Given the description of an element on the screen output the (x, y) to click on. 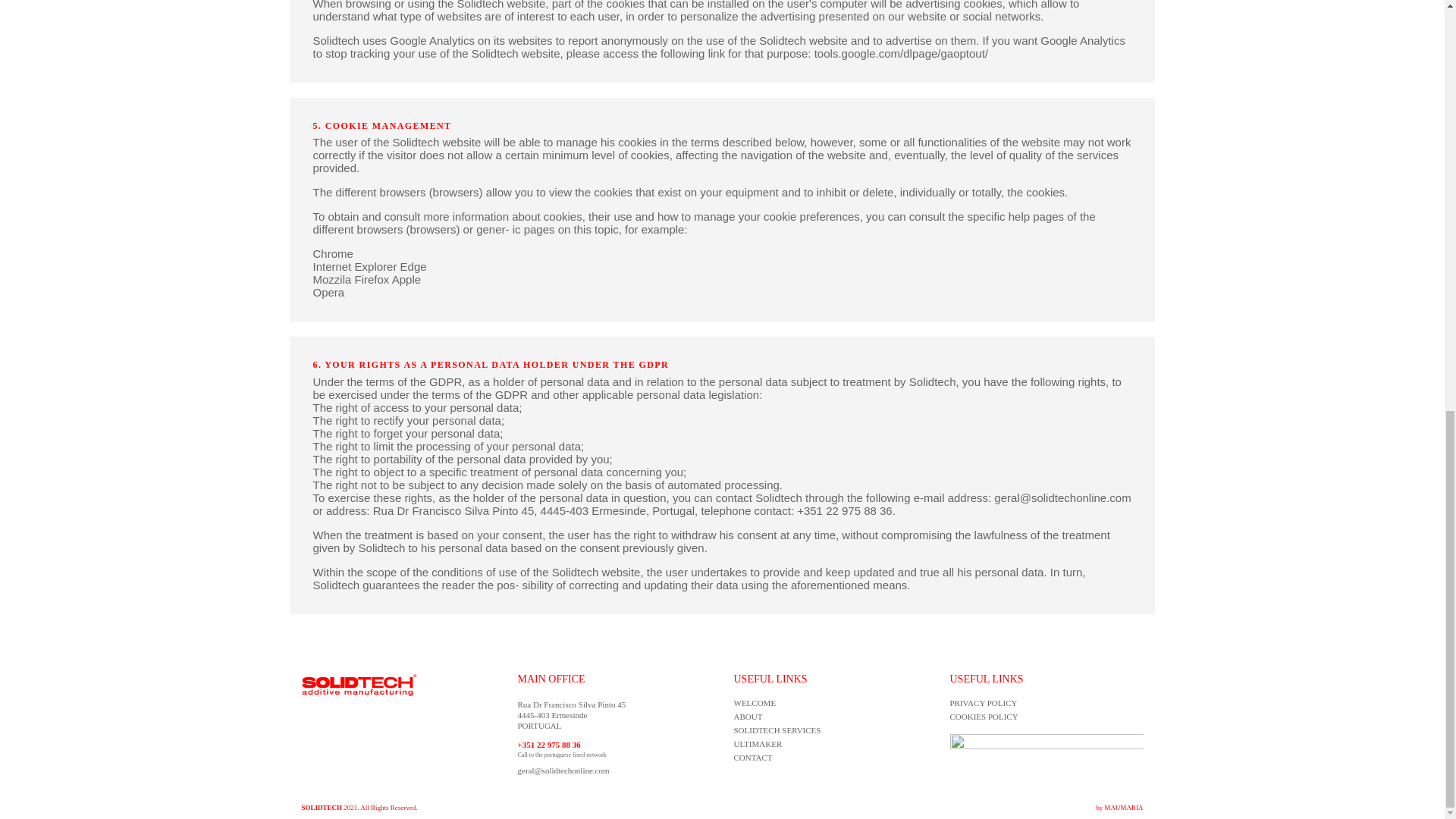
ABOUT (747, 716)
ULTIMAKER (758, 743)
WELCOME (754, 702)
SOLIDTECH SERVICES (777, 729)
